Given the description of an element on the screen output the (x, y) to click on. 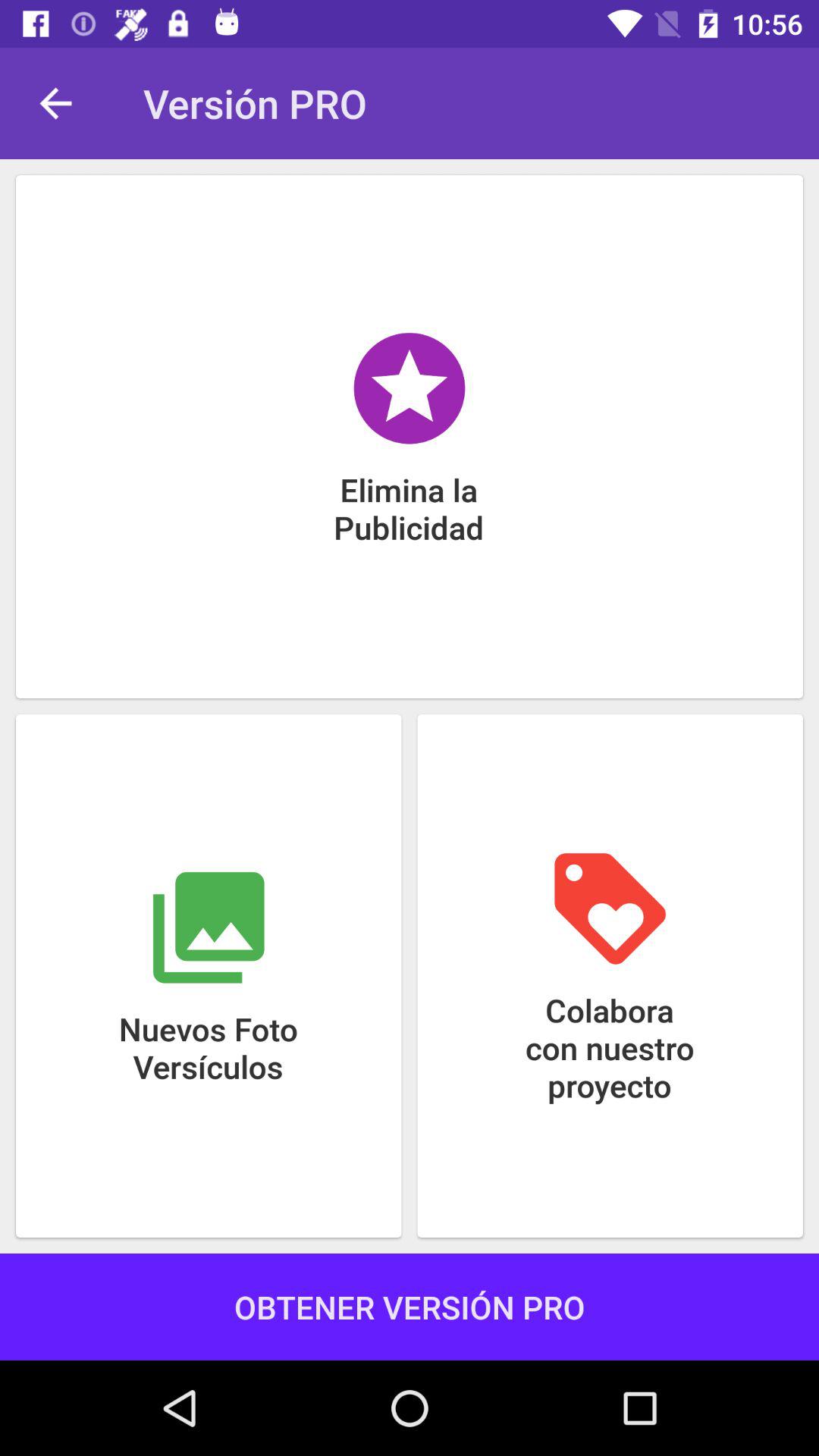
press the icon below the colabora con nuestro item (409, 1306)
